Given the description of an element on the screen output the (x, y) to click on. 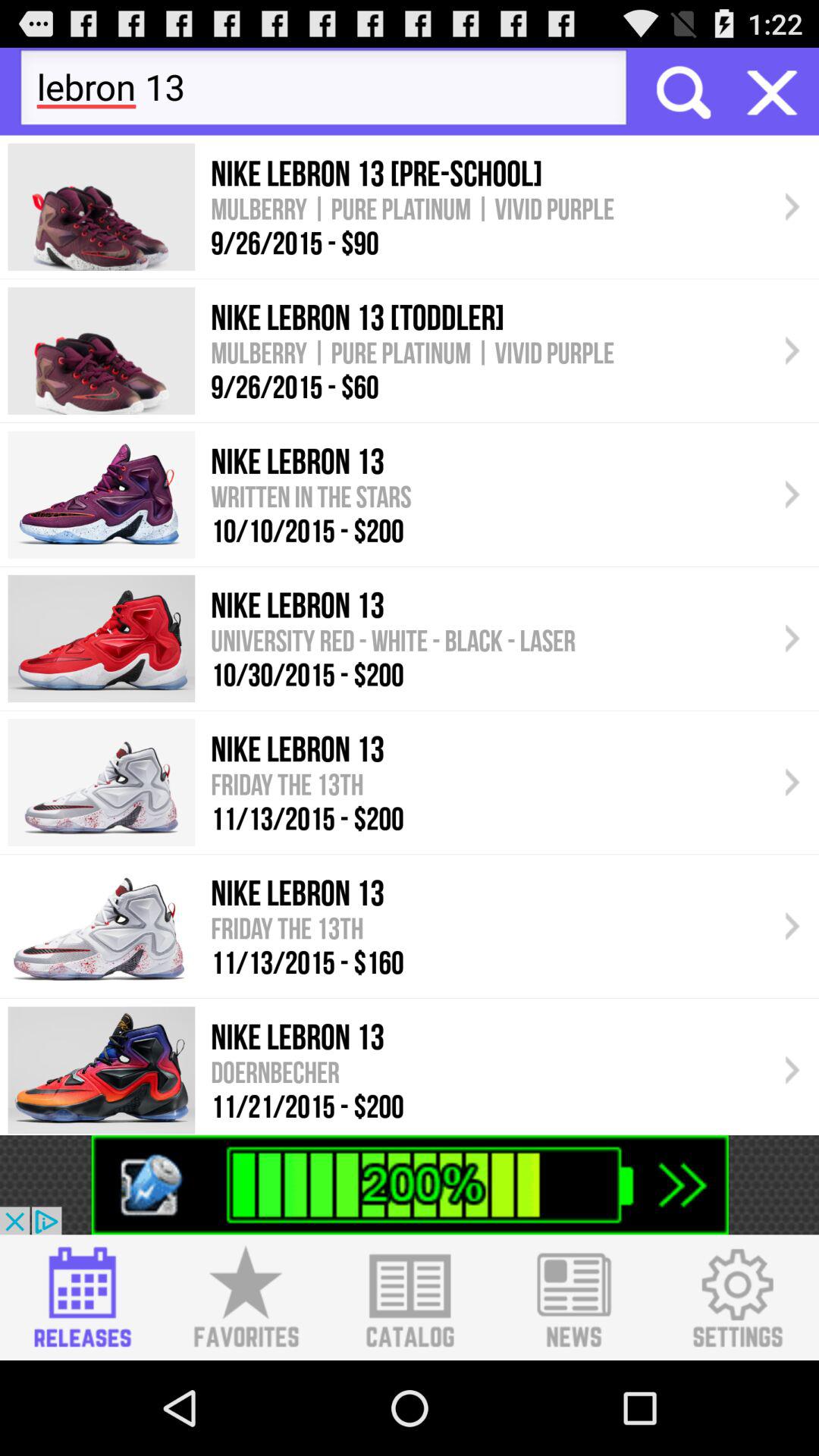
close (772, 91)
